Given the description of an element on the screen output the (x, y) to click on. 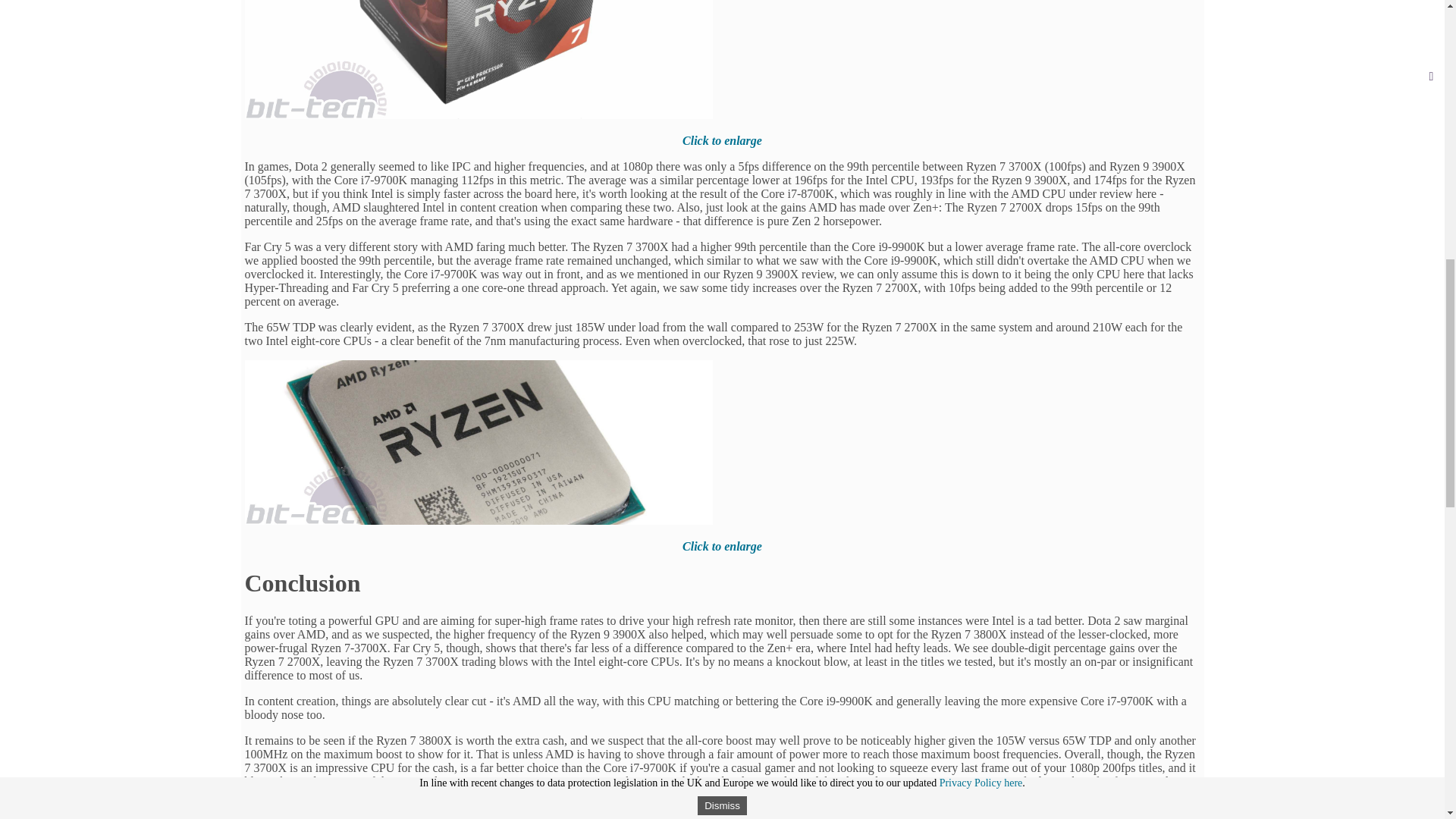
Click to enlarge (721, 141)
Click to enlarge (721, 546)
